Given the description of an element on the screen output the (x, y) to click on. 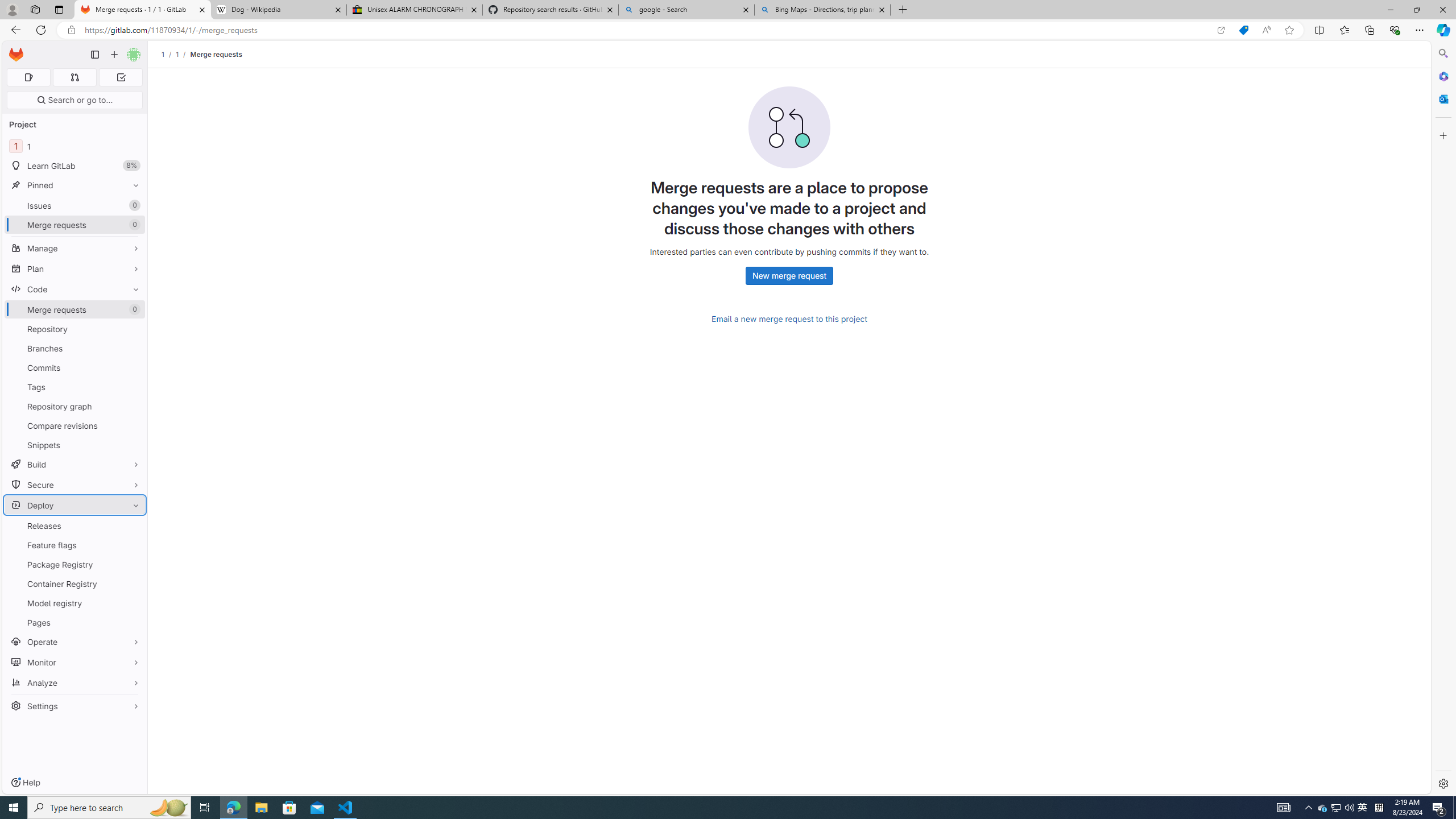
Branches (74, 348)
Deploy (74, 505)
Operate (74, 641)
Snippets (74, 444)
Learn GitLab8% (74, 165)
Branches (74, 348)
Monitor (74, 661)
Commits (74, 367)
Build (74, 464)
Help (25, 782)
Pin Commits (132, 367)
Analyze (74, 682)
Pin Branches (132, 348)
